Given the description of an element on the screen output the (x, y) to click on. 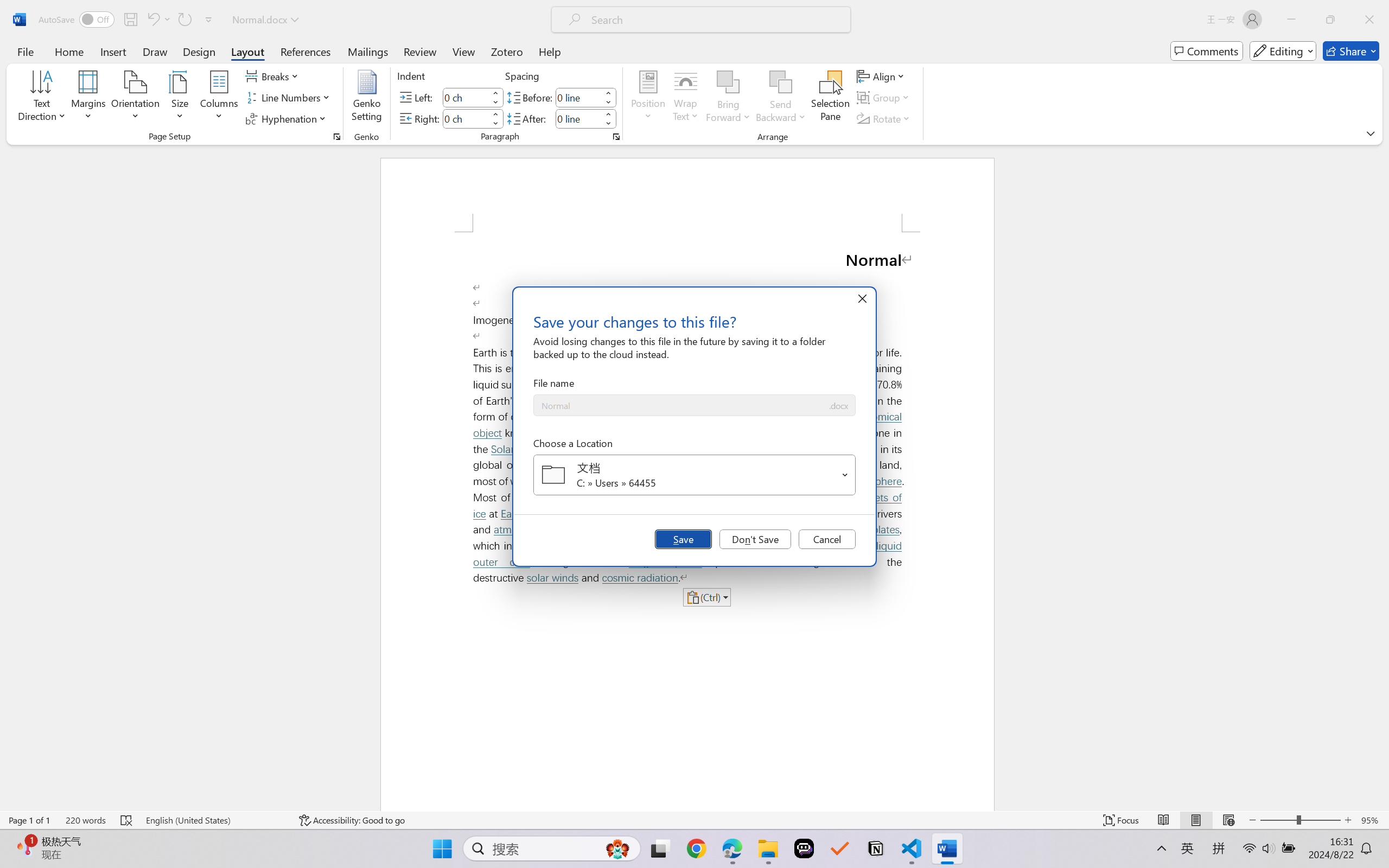
Cancel (826, 538)
Open (844, 474)
Page Setup... (336, 136)
Genko Setting... (367, 97)
Selection Pane... (830, 97)
Choose a Location (694, 474)
Google Chrome (696, 848)
